Given the description of an element on the screen output the (x, y) to click on. 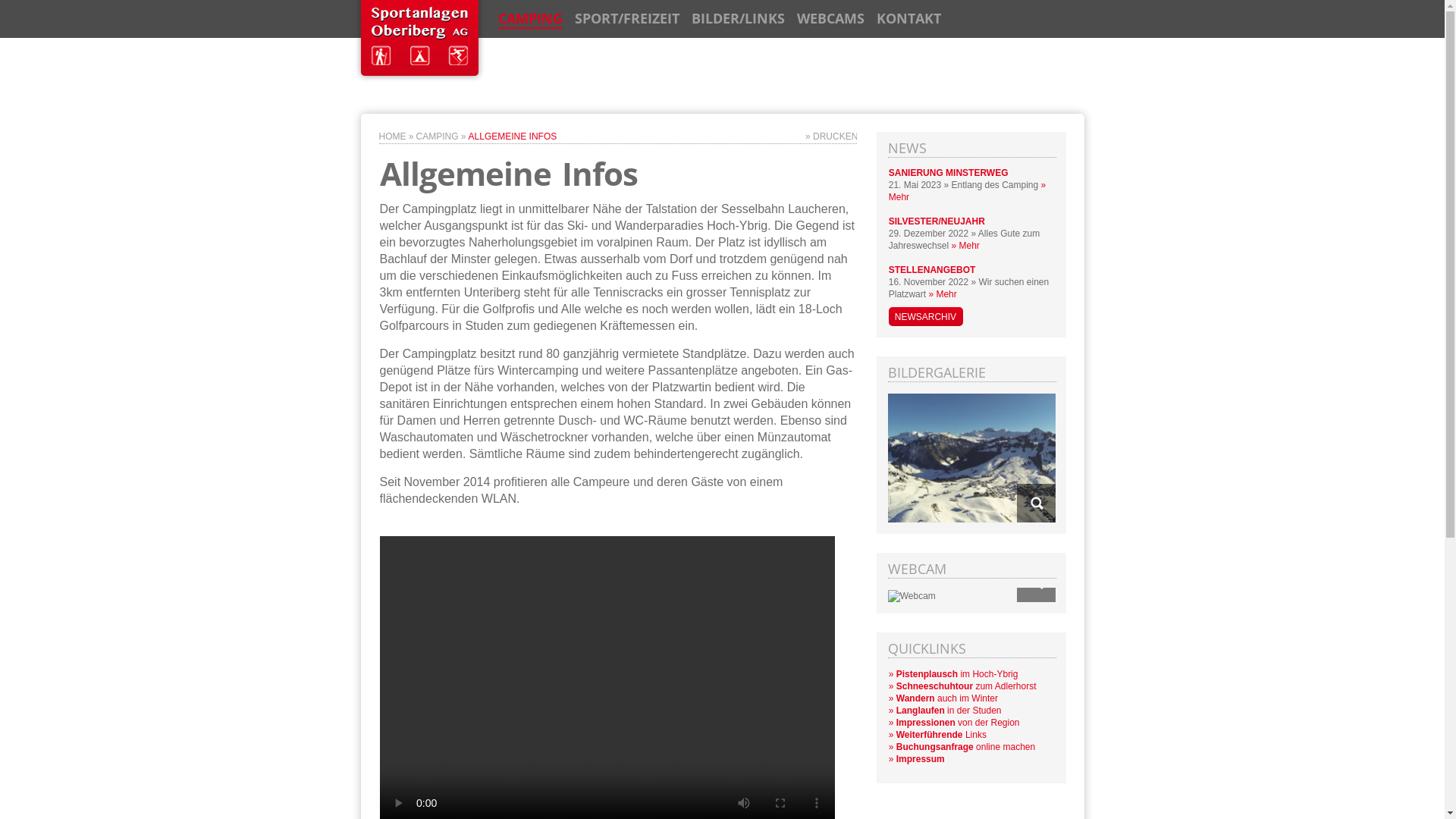
NEWSARCHIV Element type: text (925, 316)
CAMPING Element type: text (529, 18)
SILVESTER/NEUJAHR Element type: text (936, 221)
  Element type: text (1035, 582)
STELLENANGEBOT Element type: text (931, 269)
Webcam Oberiberg Element type: hover (1035, 582)
SANIERUNG MINSTERWEG Element type: text (948, 172)
Webcam Oberiberg Element type: hover (911, 595)
BILDER/LINKS Element type: text (737, 18)
KONTAKT Element type: text (908, 18)
  Element type: text (1035, 502)
WEBCAMS Element type: text (829, 18)
SPORT/FREIZEIT Element type: text (626, 18)
